Given the description of an element on the screen output the (x, y) to click on. 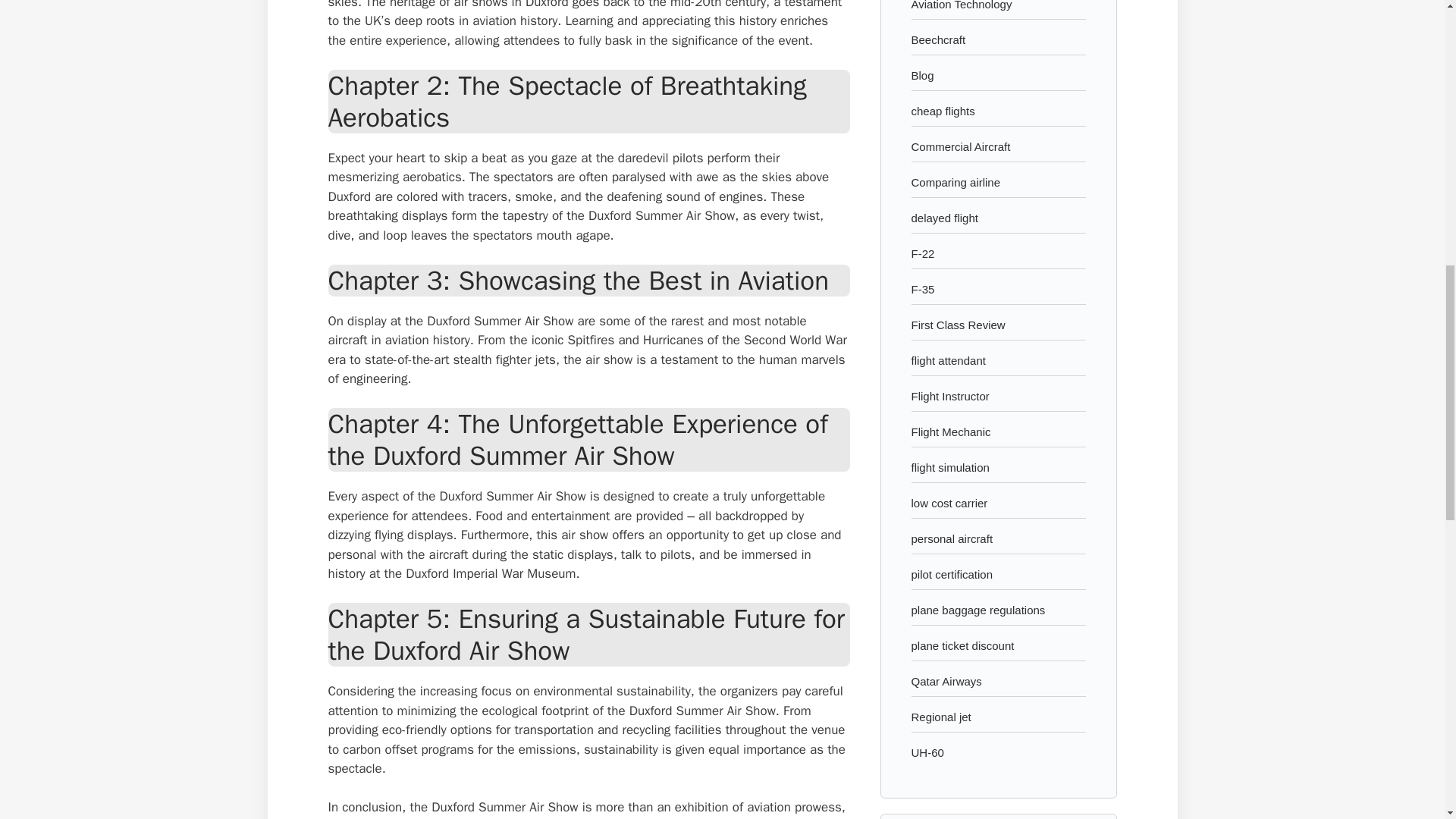
Scroll back to top (1406, 720)
